Given the description of an element on the screen output the (x, y) to click on. 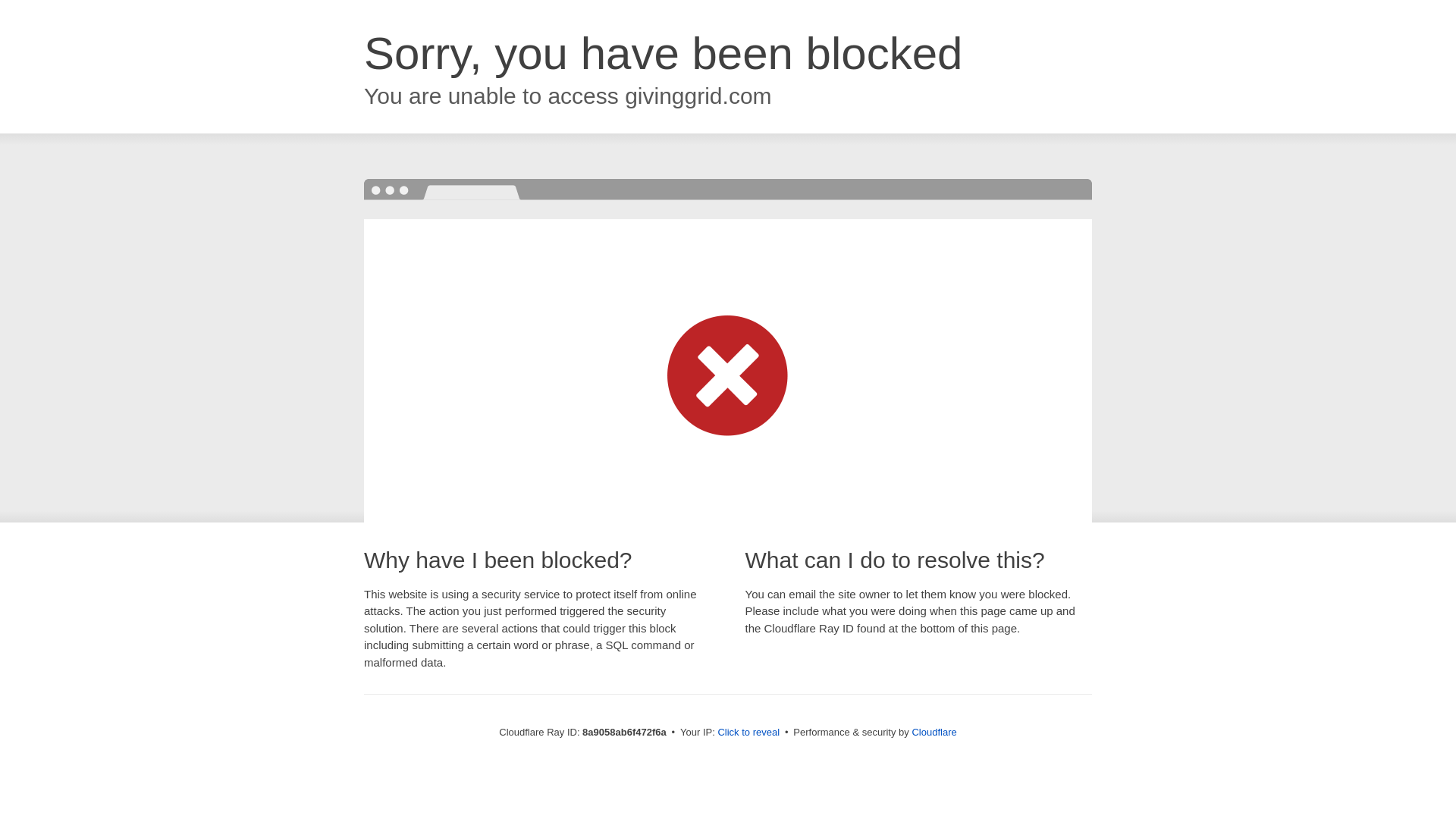
Click to reveal (747, 732)
Cloudflare (933, 731)
